Given the description of an element on the screen output the (x, y) to click on. 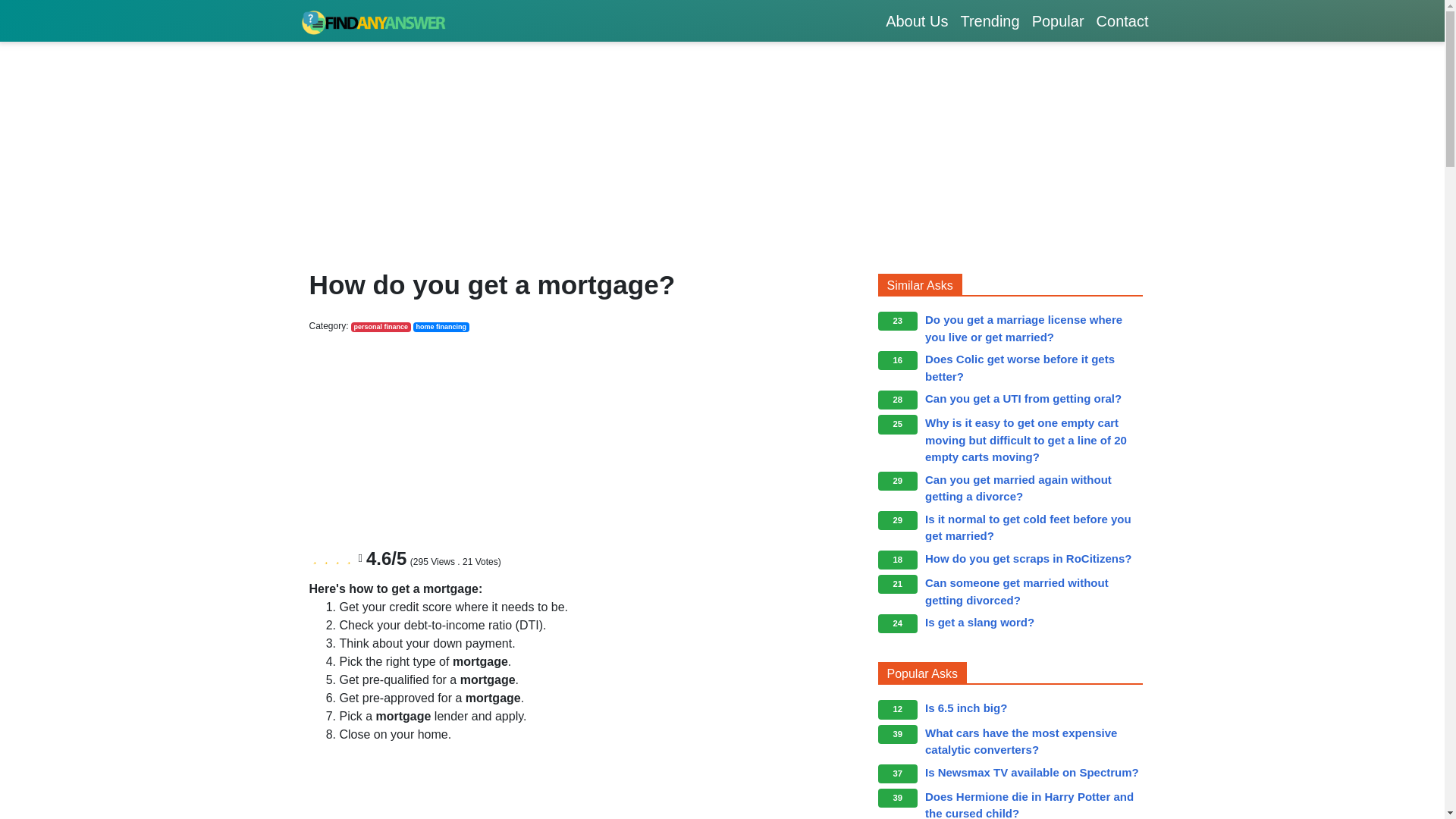
Trending (989, 20)
Advertisement (490, 438)
About Us (916, 20)
Contact (1122, 20)
Popular (1058, 20)
